Given the description of an element on the screen output the (x, y) to click on. 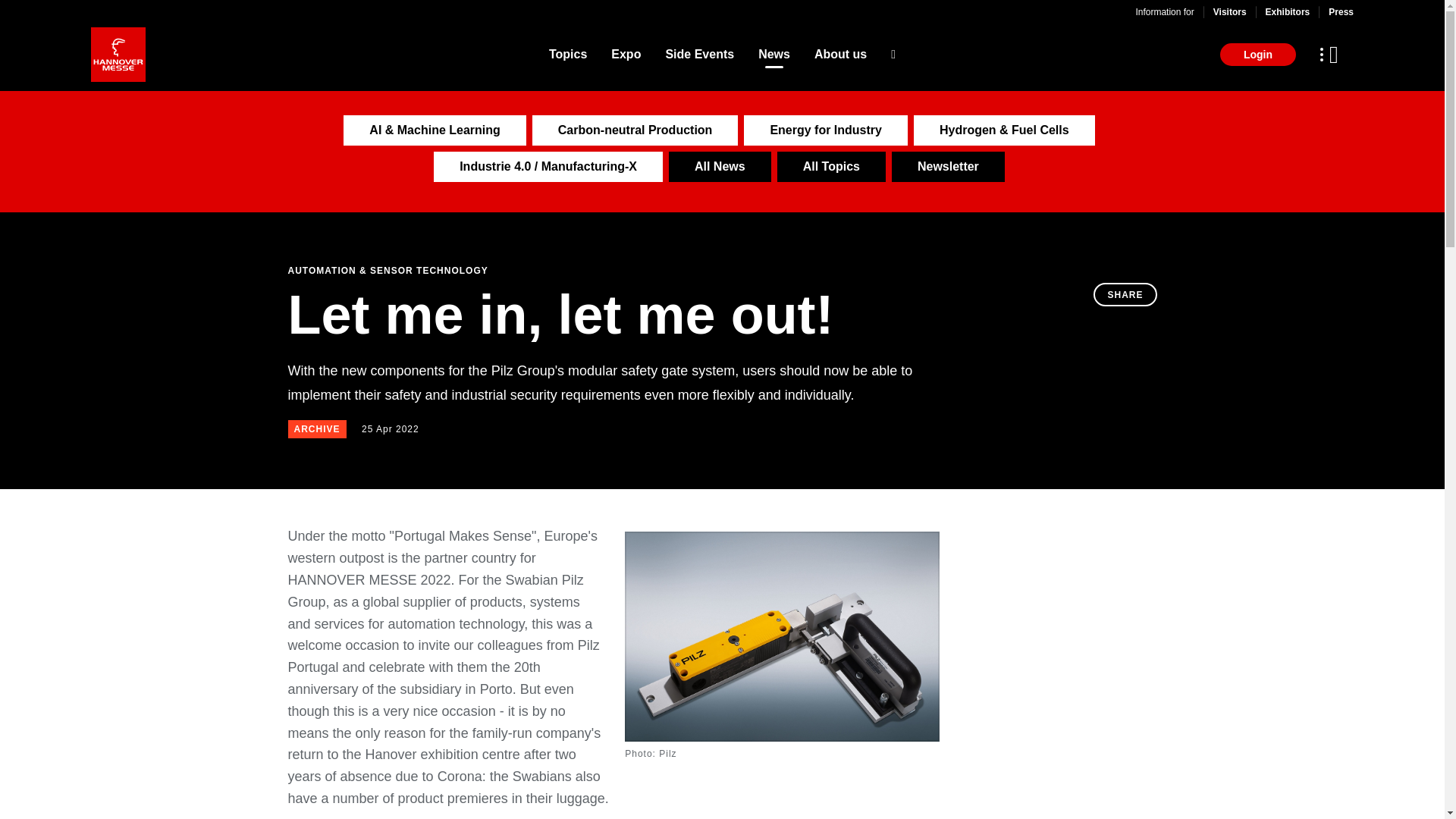
Side Events (699, 54)
Topics (567, 54)
Visitors (1229, 11)
Carbon-neutral Production (635, 130)
Press (1340, 11)
Newsletter (947, 166)
Expo (625, 54)
Exhibitors (1287, 11)
Login (1257, 54)
News (774, 54)
All News (719, 166)
All Topics (831, 166)
Energy for Industry (825, 130)
About us (839, 54)
